Given the description of an element on the screen output the (x, y) to click on. 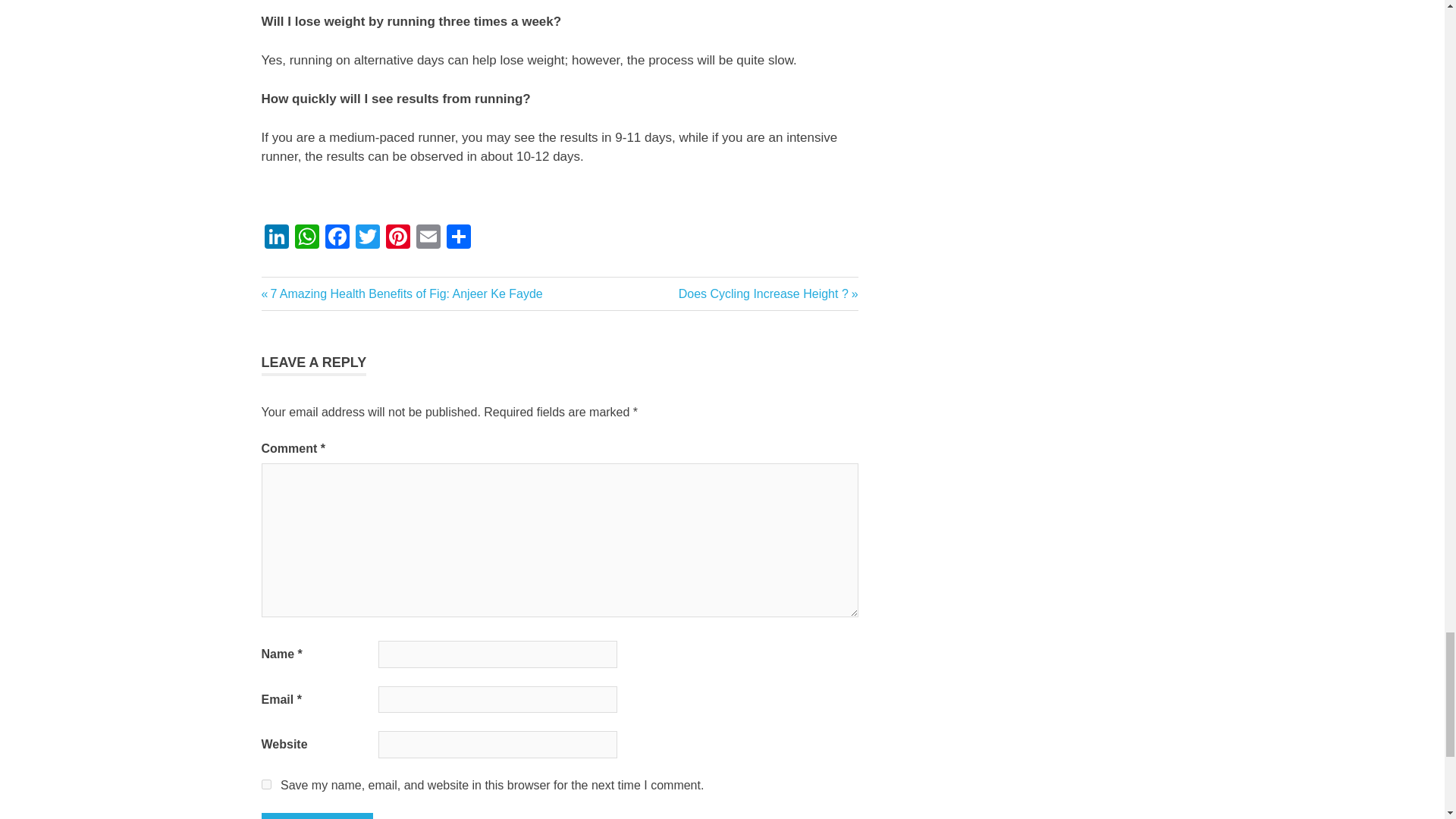
yes (265, 784)
Twitter (366, 238)
Share (457, 238)
LinkedIn (275, 238)
LinkedIn (275, 238)
Post Comment (316, 816)
Twitter (366, 238)
Facebook (336, 238)
Pinterest (396, 238)
WhatsApp (306, 238)
Email (427, 238)
Facebook (336, 238)
WhatsApp (306, 238)
Pinterest (396, 238)
